Given the description of an element on the screen output the (x, y) to click on. 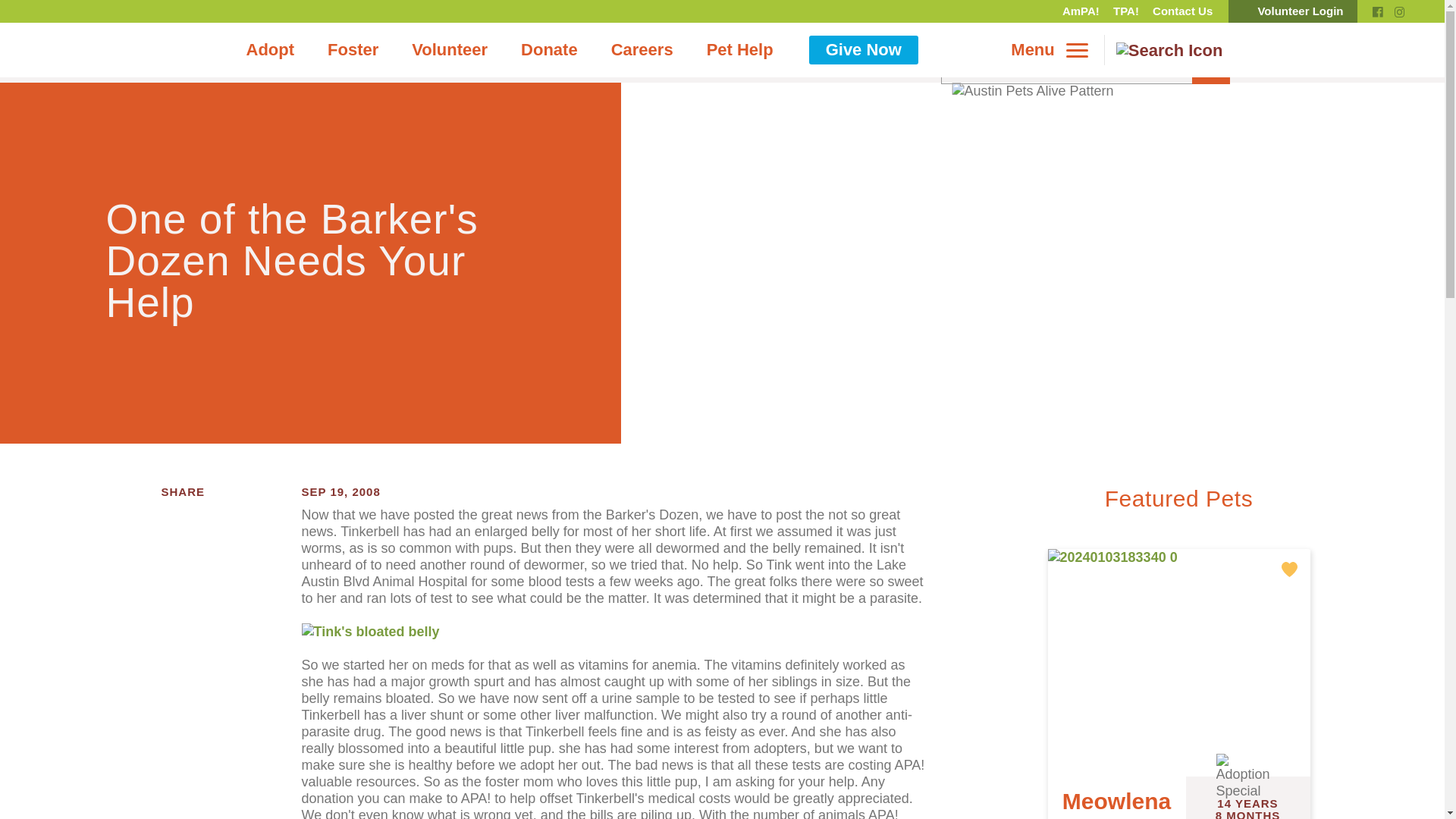
Careers (642, 50)
Donate (548, 50)
imgp1677 (370, 631)
AmPA! (1081, 11)
Volunteer (448, 50)
Foster (352, 50)
Contact Us (1182, 11)
TPA! (1126, 11)
Adopt (269, 50)
Volunteer Login (1292, 11)
